Given the description of an element on the screen output the (x, y) to click on. 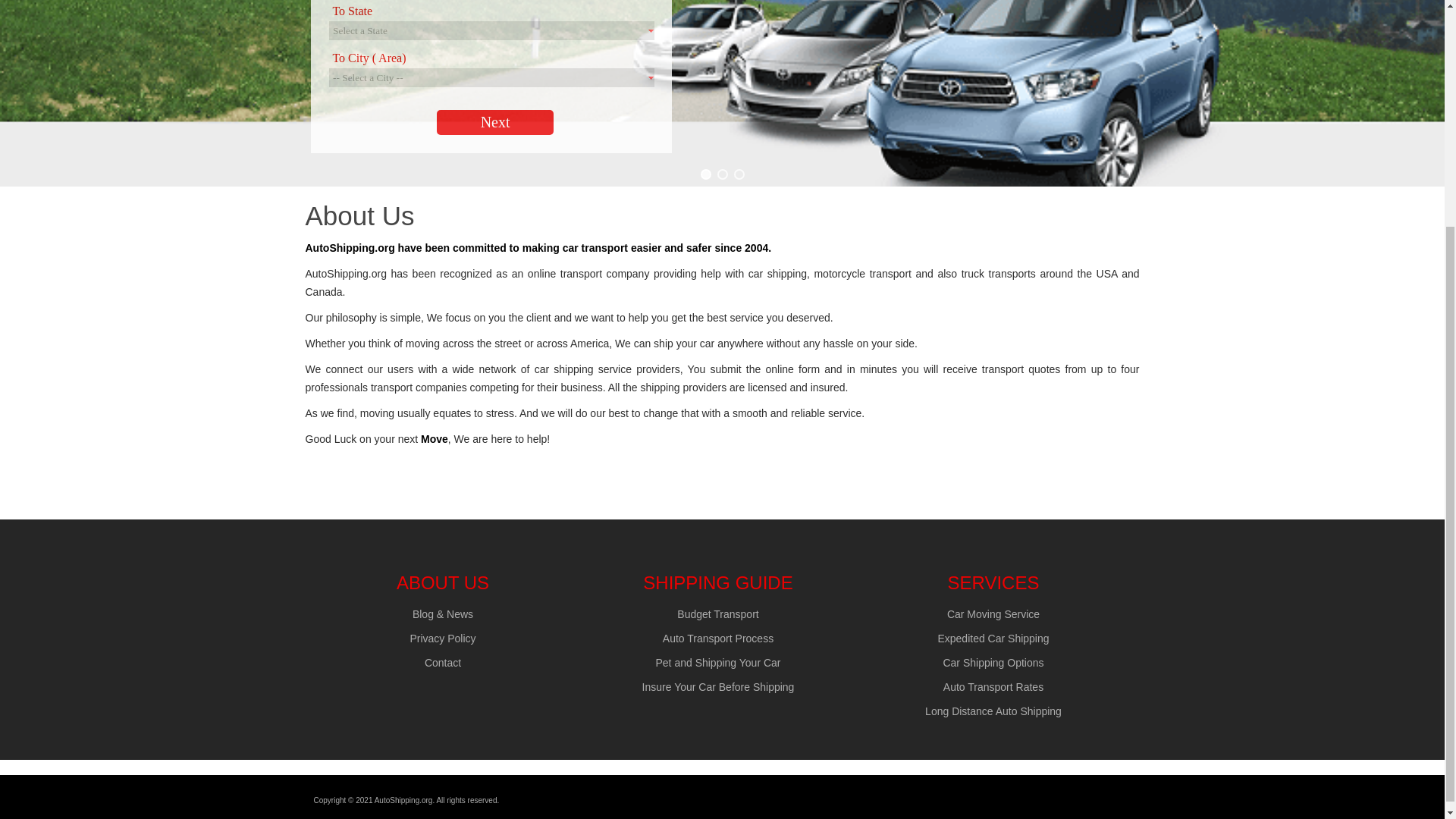
Next (494, 122)
Insure Your Car Before Shipping (718, 686)
Privacy Policy (442, 638)
Auto Transport Process (717, 638)
Pet and Shipping Your Car (717, 662)
Car Moving Service (993, 613)
Next (494, 122)
Contact (443, 662)
Car Shipping Options (992, 662)
Expedited Car Shipping (992, 638)
